Given the description of an element on the screen output the (x, y) to click on. 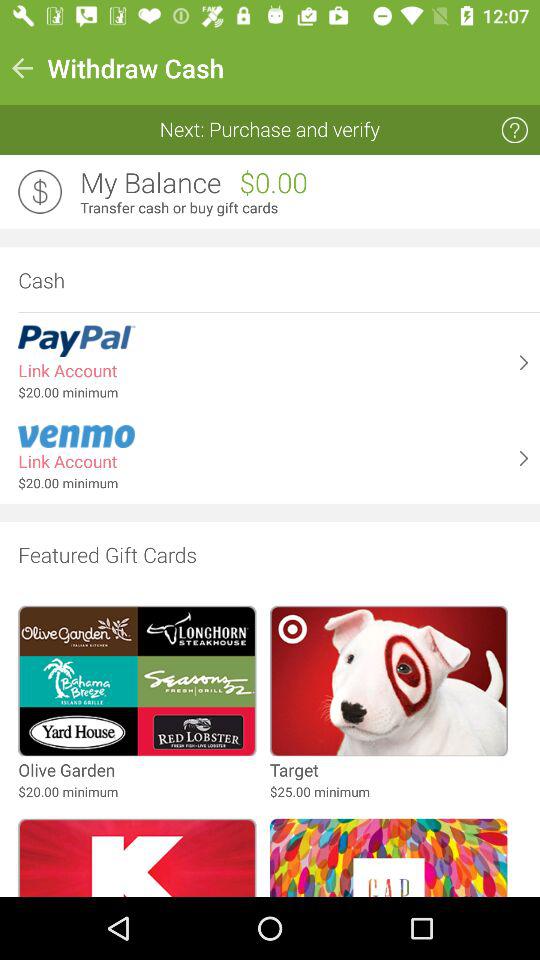
launch icon to the left of the $0.00 item (150, 183)
